Given the description of an element on the screen output the (x, y) to click on. 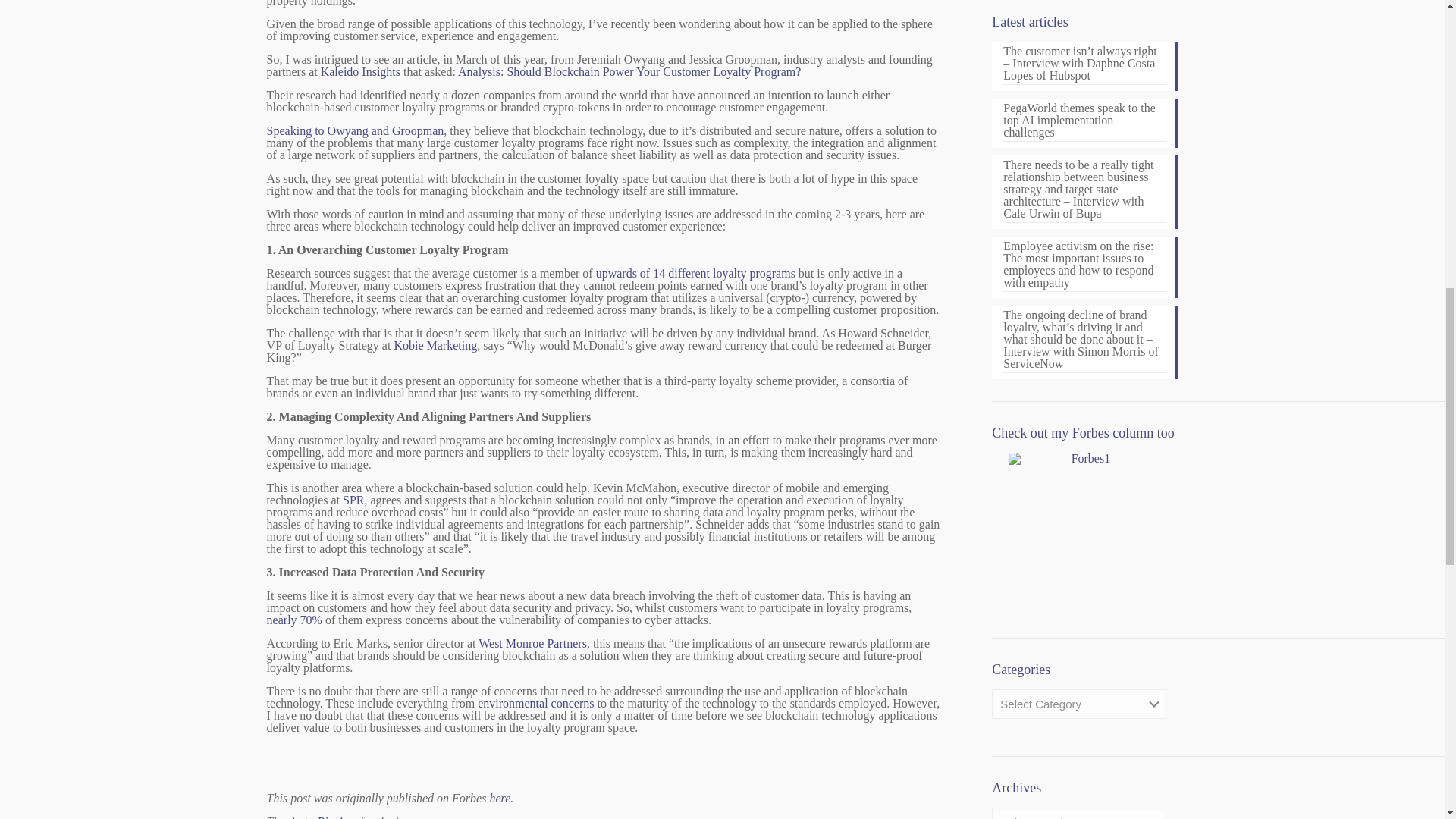
upwards of 14 different loyalty programs (694, 273)
Pixabay (336, 816)
SPR (353, 499)
West Monroe Partners (532, 643)
Speaking to Owyang and Groopman (355, 130)
environmental concerns (535, 703)
Kaleido Insights (360, 71)
Kobie Marketing (435, 345)
here (500, 797)
Adrian Swinscoe on Forbes.com (1084, 528)
